Given the description of an element on the screen output the (x, y) to click on. 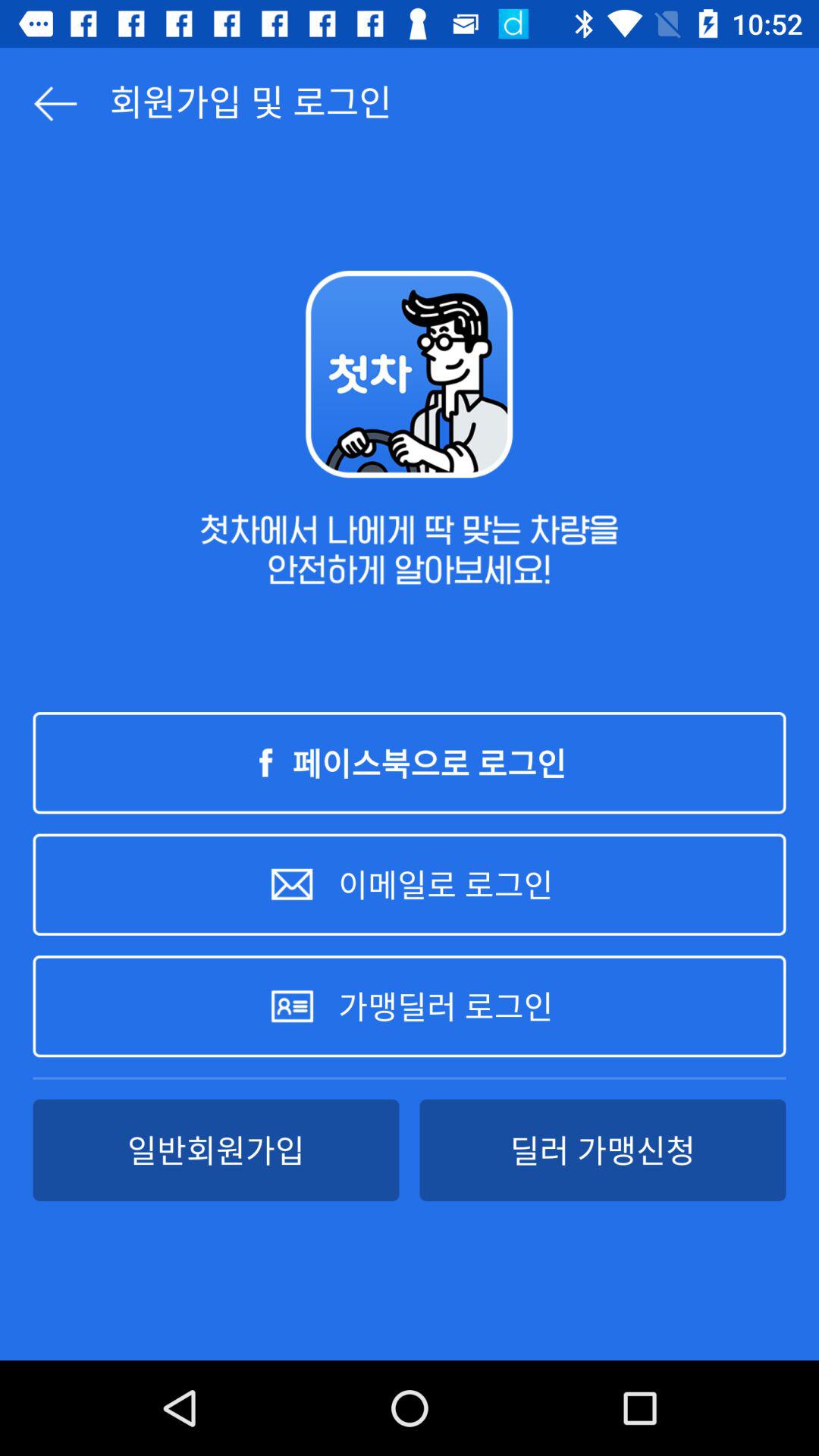
choose icon at the bottom right corner (602, 1150)
